Given the description of an element on the screen output the (x, y) to click on. 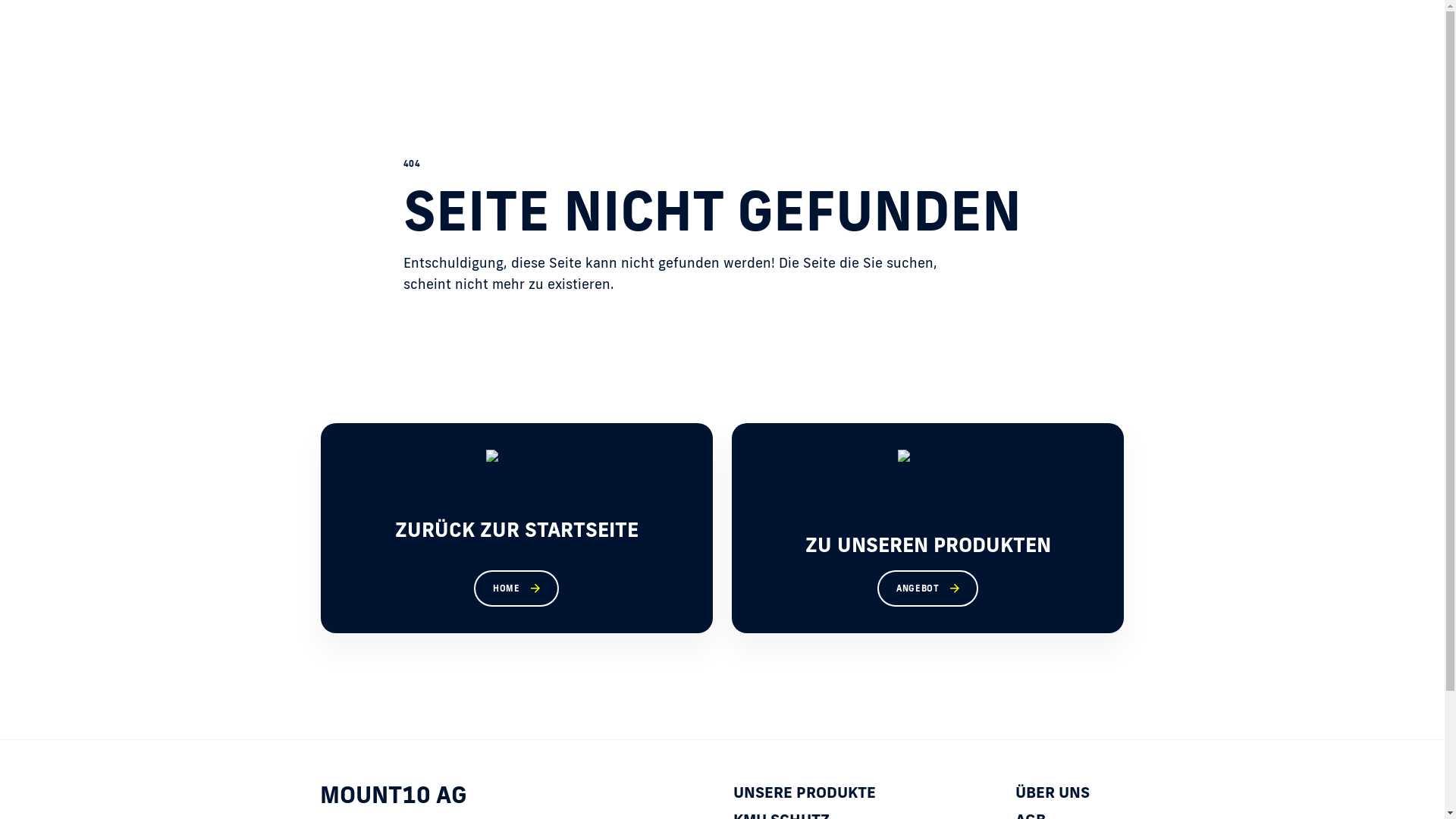
HOME Element type: text (515, 588)
ANGEBOT Element type: text (927, 588)
UNSERE PRODUKTE Element type: text (804, 791)
404 Element type: text (411, 163)
